Given the description of an element on the screen output the (x, y) to click on. 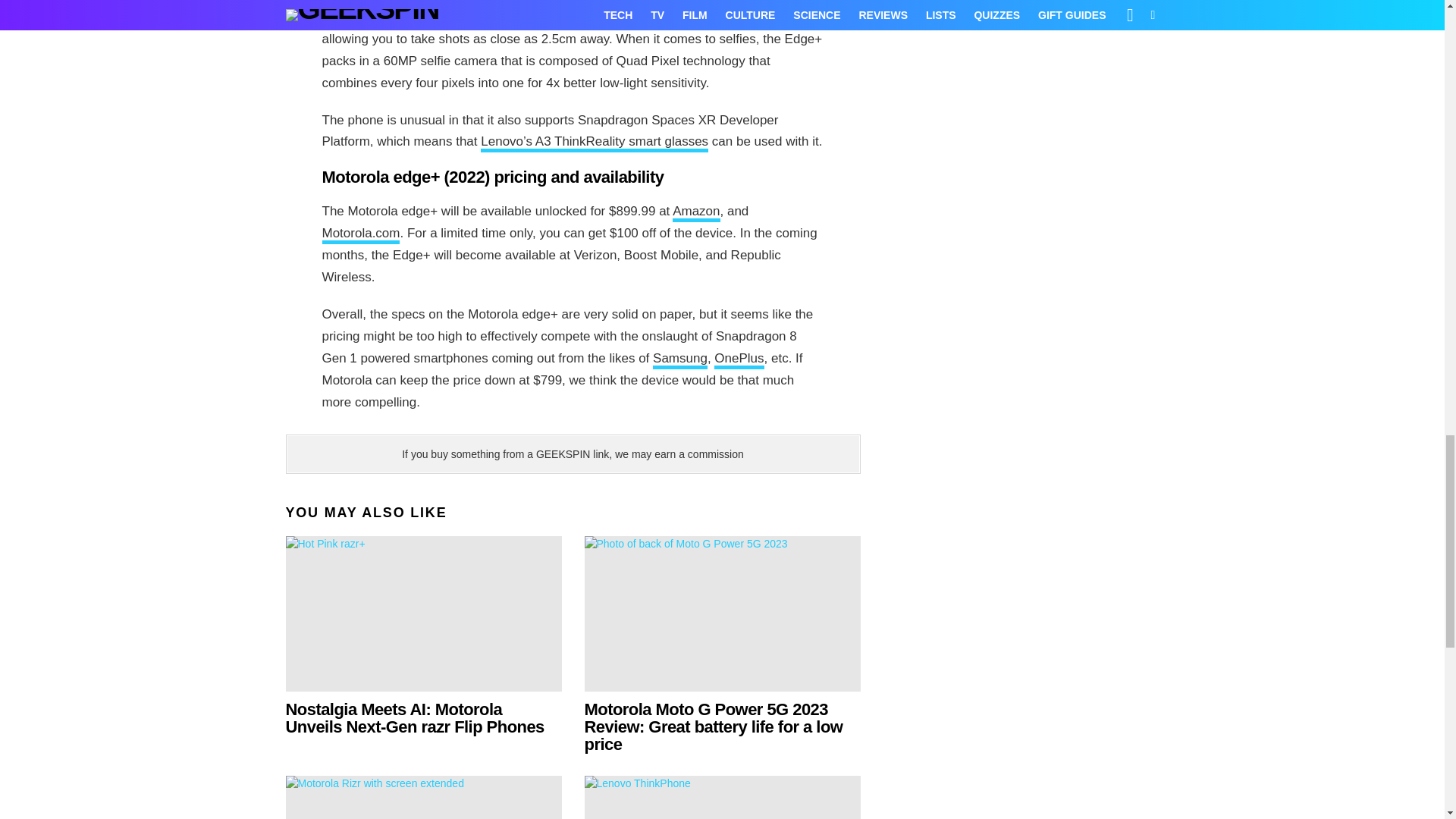
Samsung (679, 360)
Amazon (695, 212)
Motorola.com (359, 235)
OnePlus (738, 360)
